Given the description of an element on the screen output the (x, y) to click on. 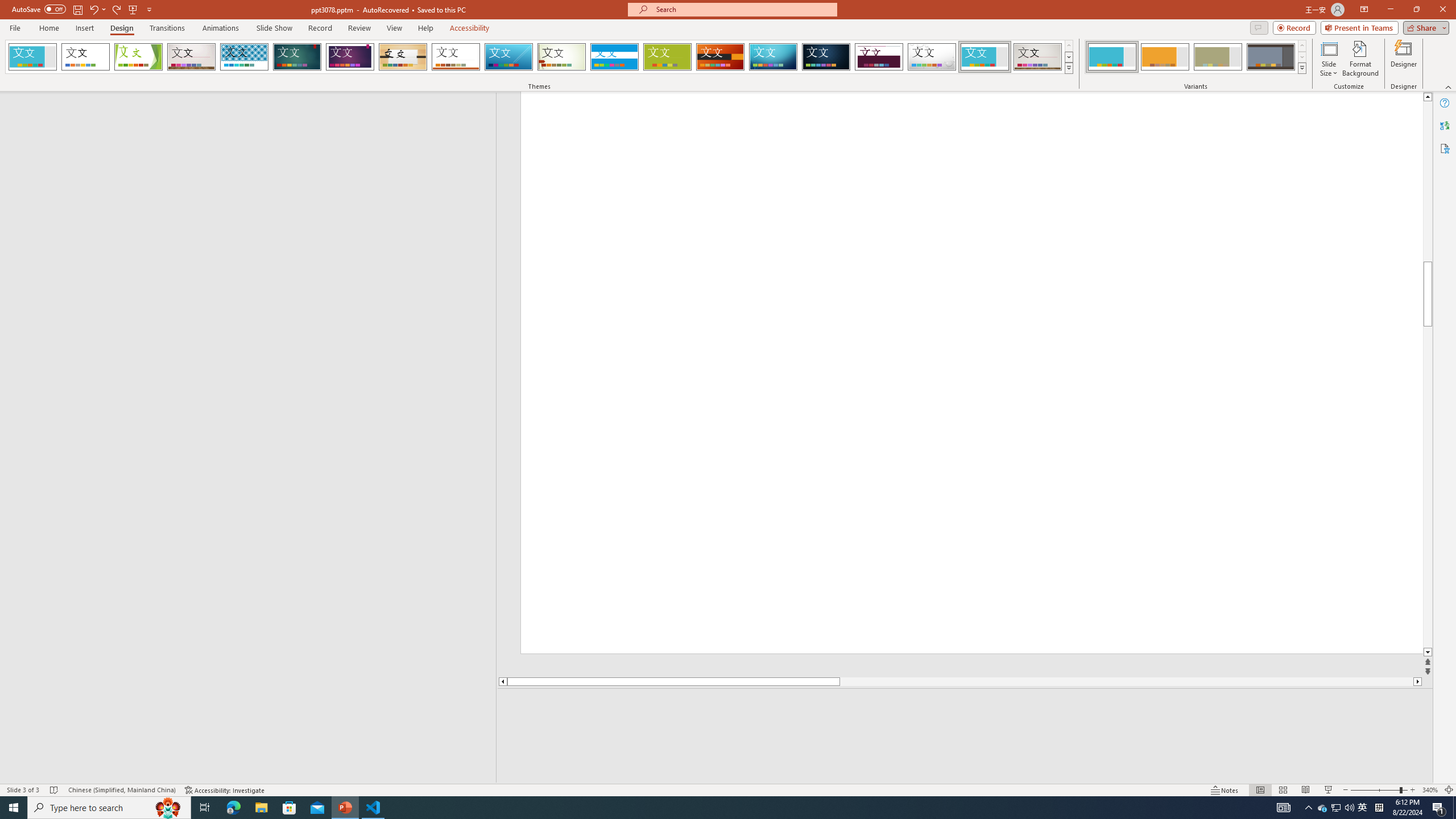
Droplet (931, 56)
Circuit (772, 56)
Frame (984, 56)
Retrospect (455, 56)
Berlin (720, 56)
